Given the description of an element on the screen output the (x, y) to click on. 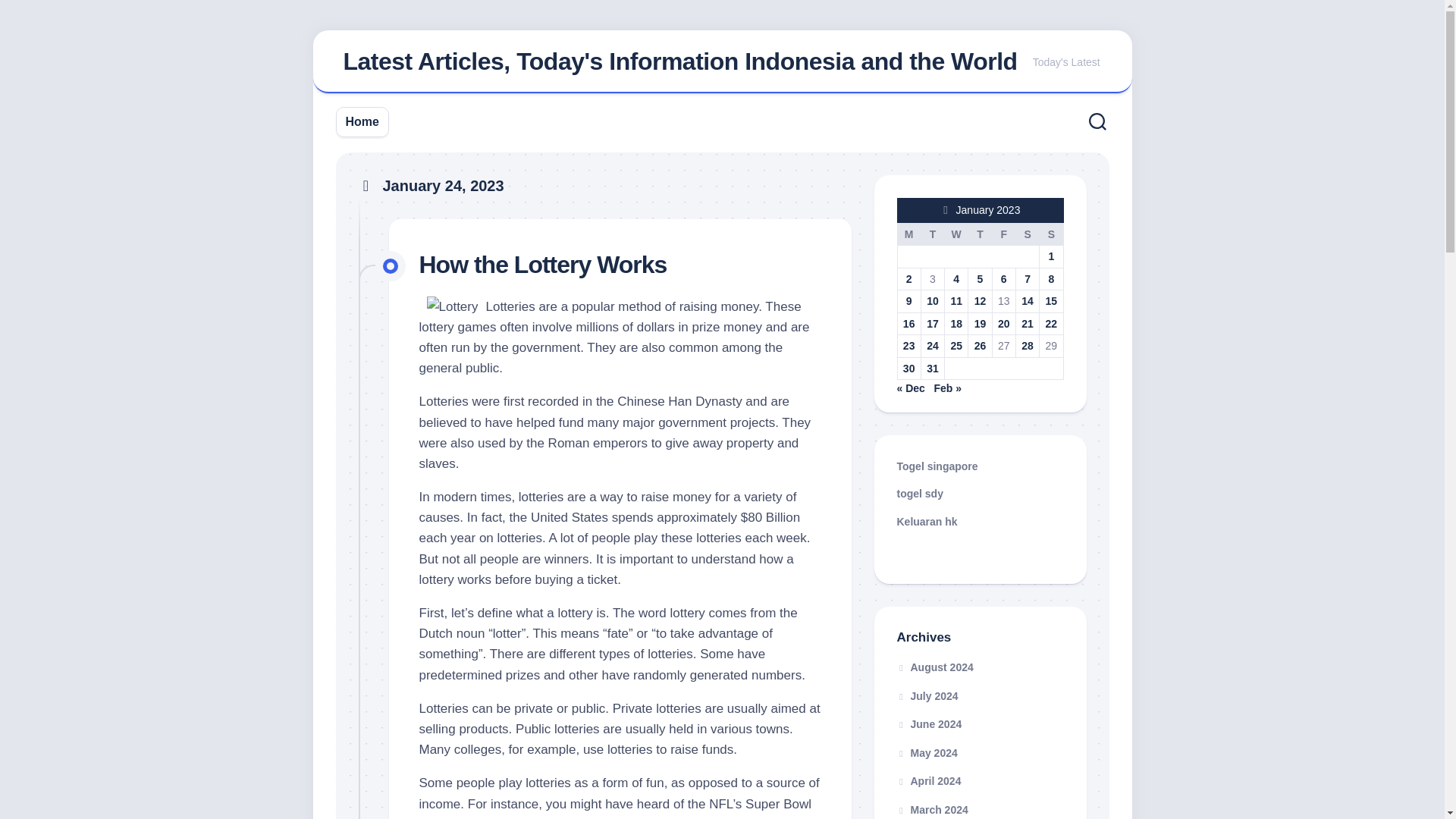
Friday (1002, 233)
18 (956, 322)
22 (1051, 322)
24 (932, 345)
26 (980, 345)
Sunday (1050, 233)
How the Lottery Works (542, 264)
19 (980, 322)
11 (956, 300)
